Given the description of an element on the screen output the (x, y) to click on. 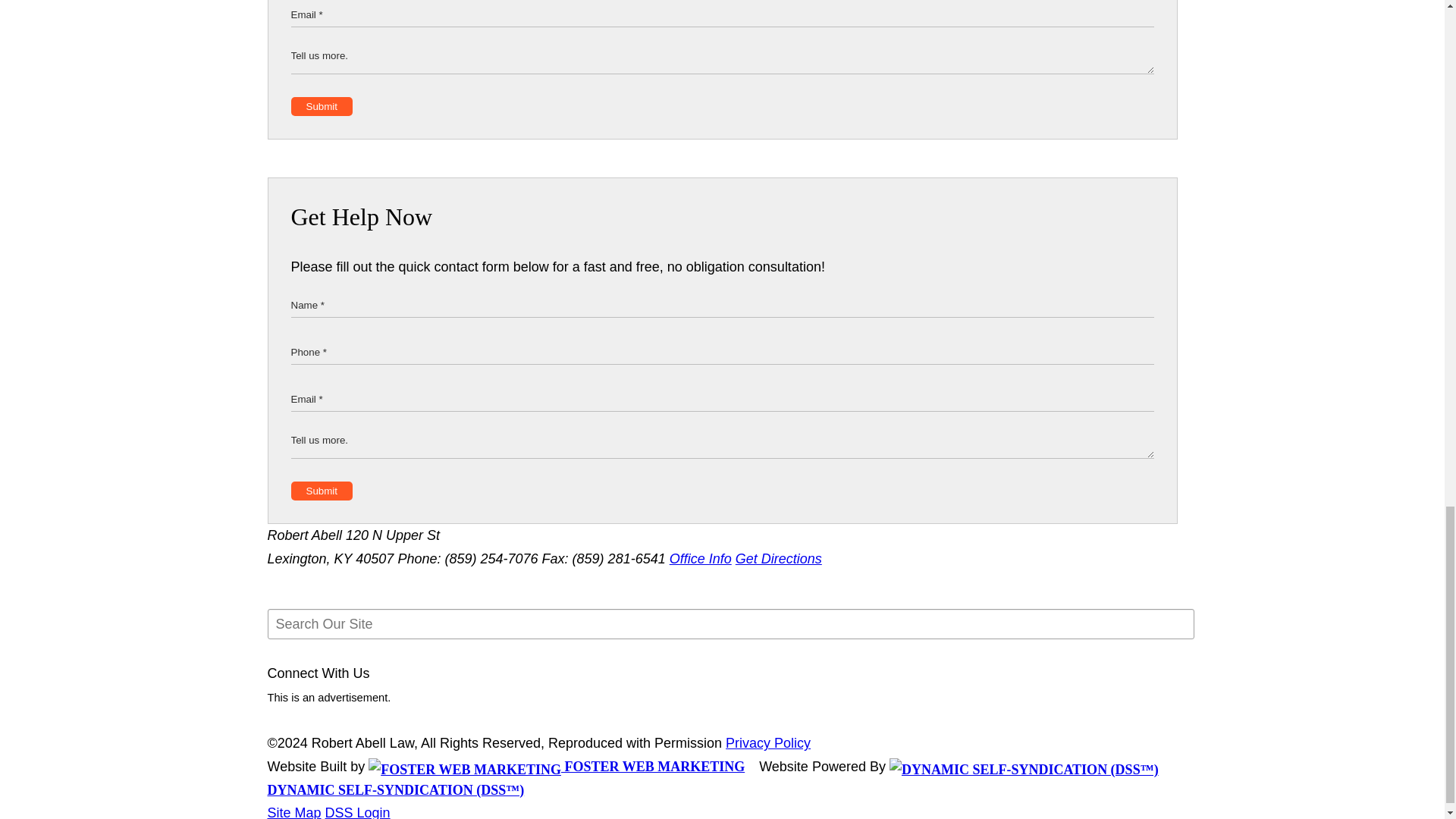
Submit (321, 106)
Submit (321, 490)
